Given the description of an element on the screen output the (x, y) to click on. 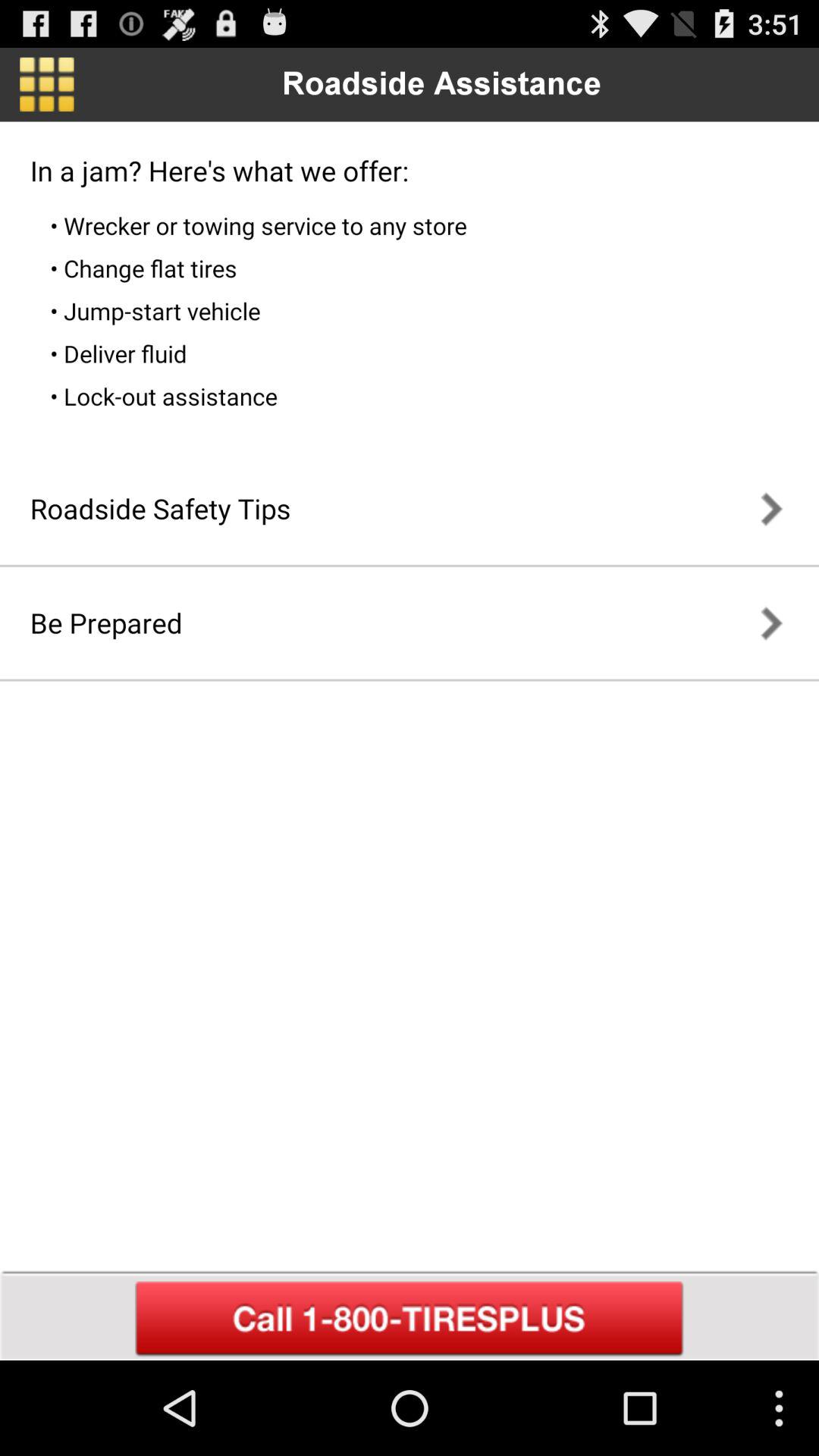
press app below the roadside safety tips item (106, 622)
